Given the description of an element on the screen output the (x, y) to click on. 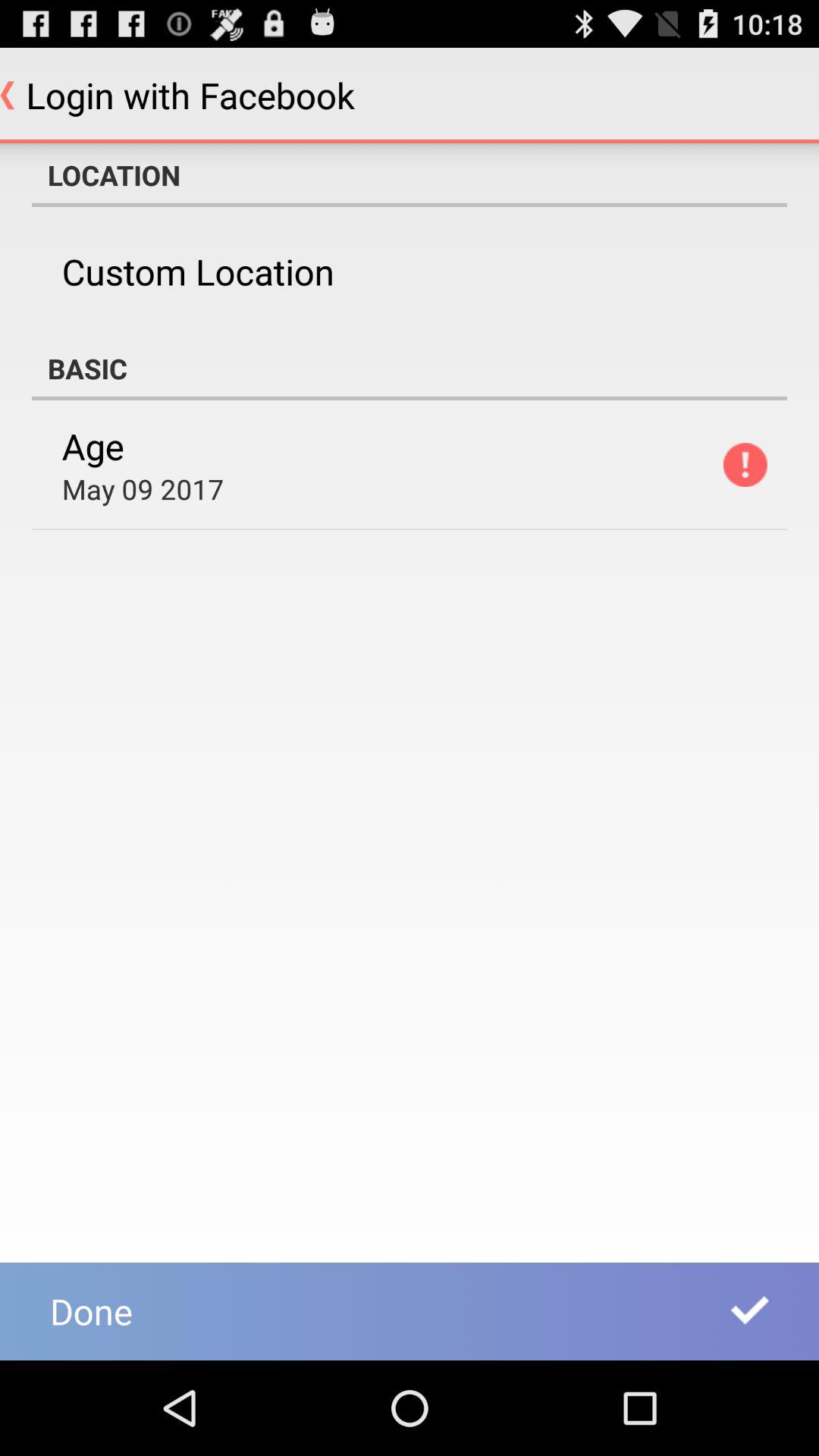
turn off the item at the top right corner (745, 464)
